Given the description of an element on the screen output the (x, y) to click on. 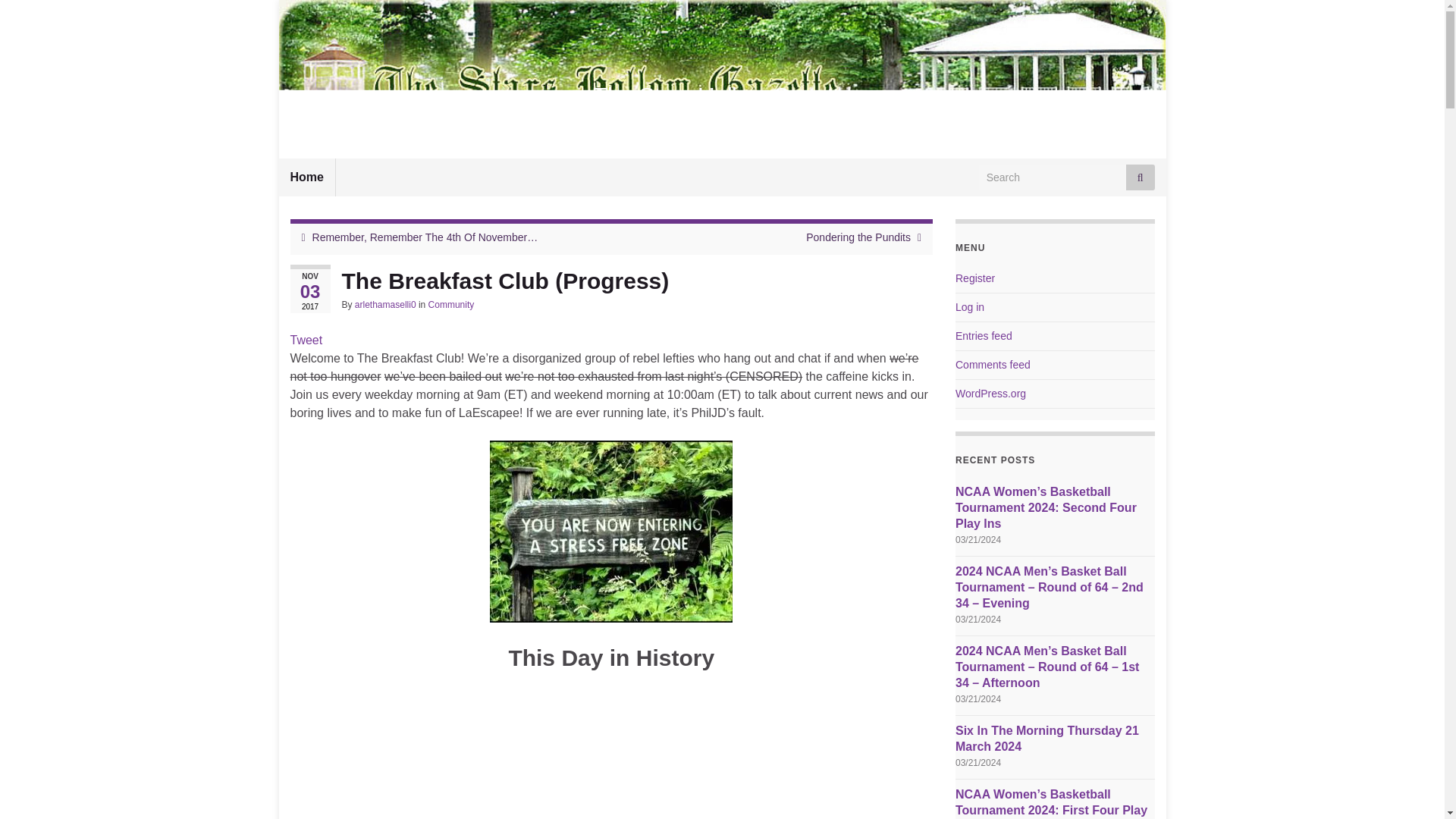
Comments feed (992, 364)
WordPress.org (990, 393)
Go back to the front page (721, 95)
arlethamaselli0 (385, 304)
Home (306, 177)
The Stars Hollow Gazette (721, 95)
Register (974, 277)
Tweet (305, 339)
Pondering the Pundits (858, 236)
Log in (969, 306)
